Given the description of an element on the screen output the (x, y) to click on. 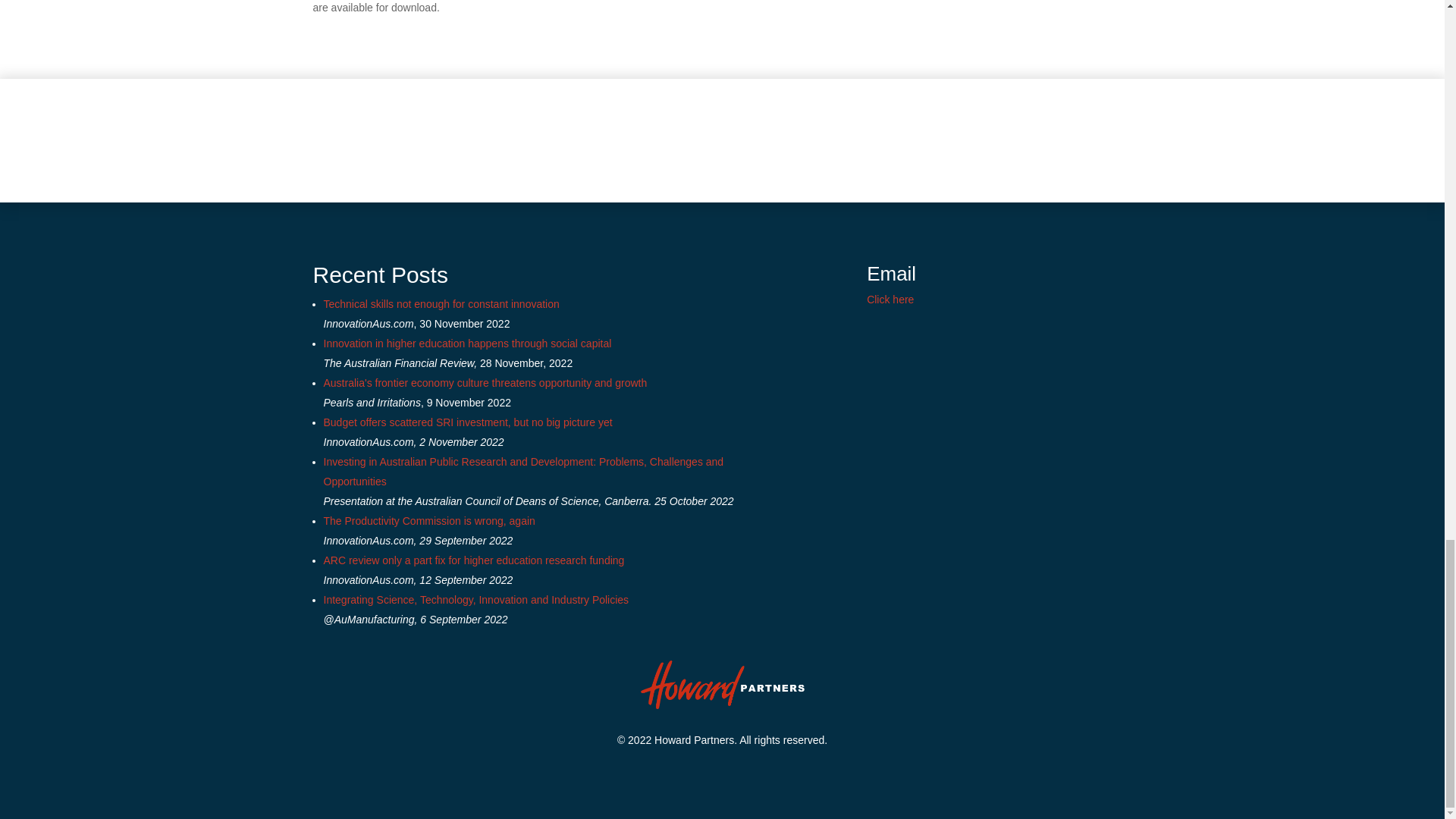
Click here (890, 299)
The Productivity Commission is wrong, again (428, 521)
Technical skills not enough for constant innovation (441, 304)
